Given the description of an element on the screen output the (x, y) to click on. 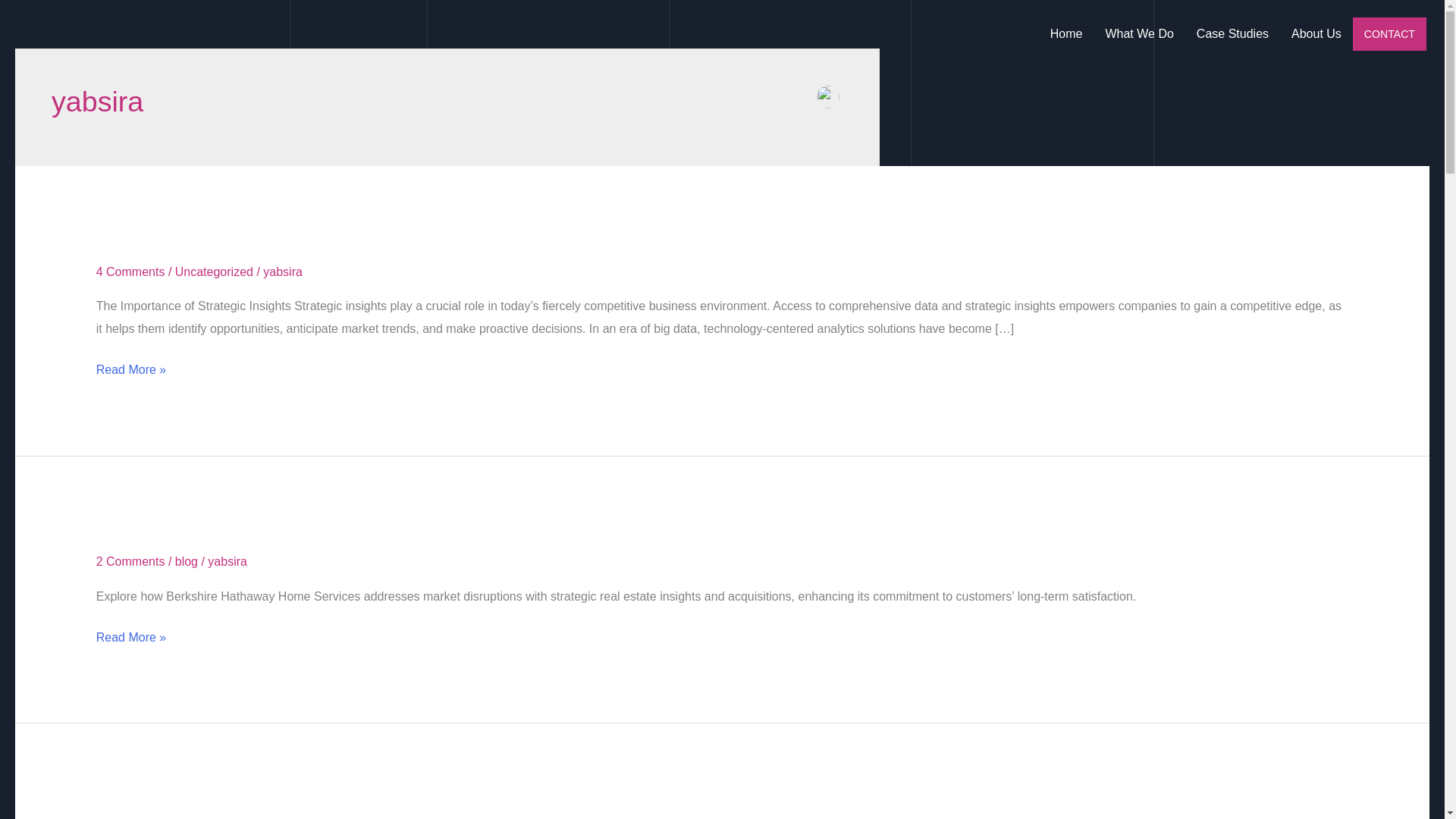
Uncategorized (213, 271)
What We Do (1139, 33)
Home (1066, 33)
2 Comments (130, 561)
yabsira (282, 271)
yabsira (227, 561)
Case Studies (1232, 33)
View all posts by yabsira (282, 271)
4 Comments (130, 271)
About Us (1315, 33)
blog (186, 561)
View all posts by yabsira (227, 561)
CONTACT (1389, 33)
